Given the description of an element on the screen output the (x, y) to click on. 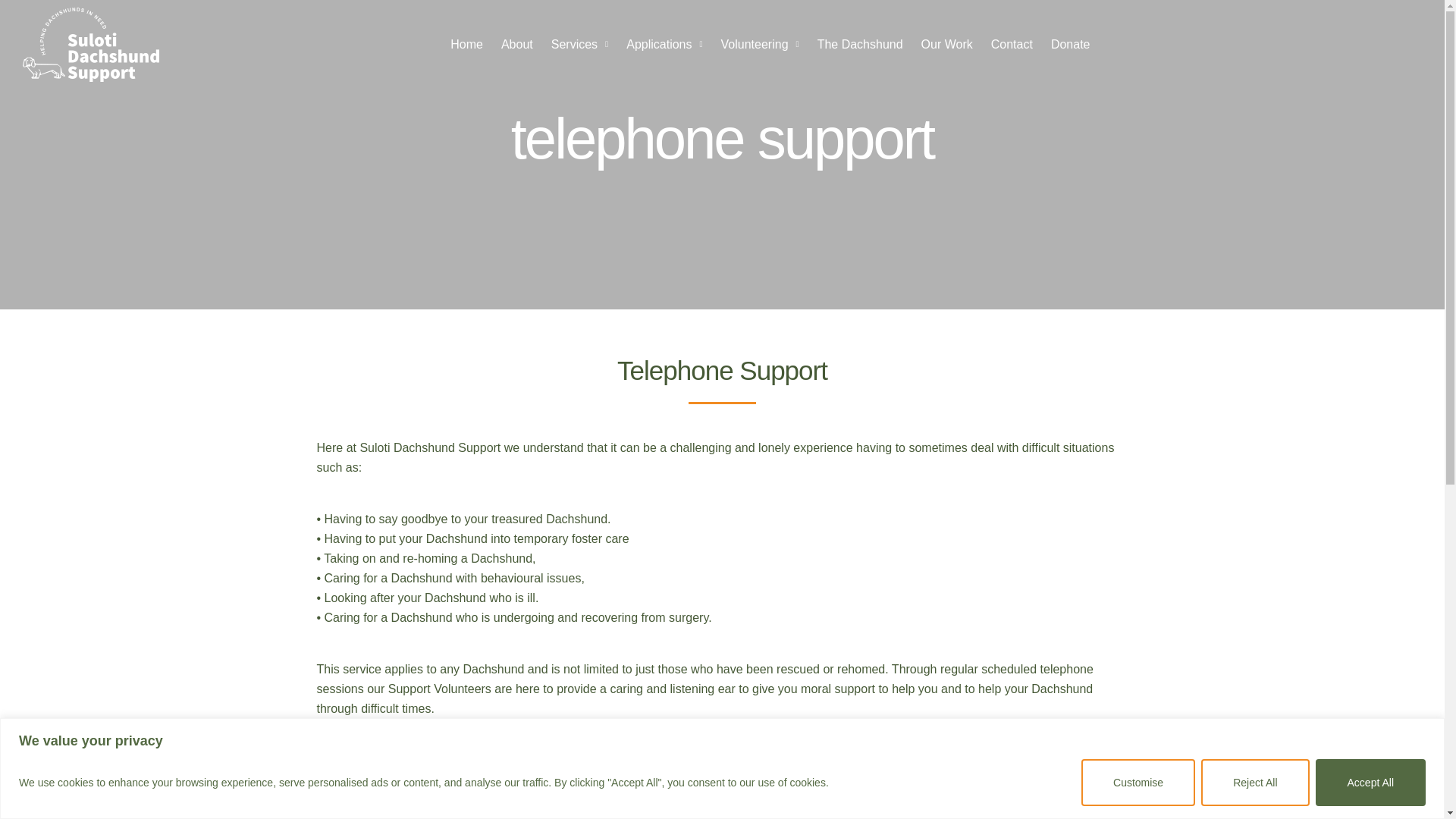
Donate (1070, 44)
The Dachshund (860, 44)
Accept All (1370, 781)
Our Work (946, 44)
Applications (664, 44)
Volunteering (759, 44)
Home (466, 44)
Reject All (1254, 781)
About (516, 44)
Contact (1011, 44)
